Given the description of an element on the screen output the (x, y) to click on. 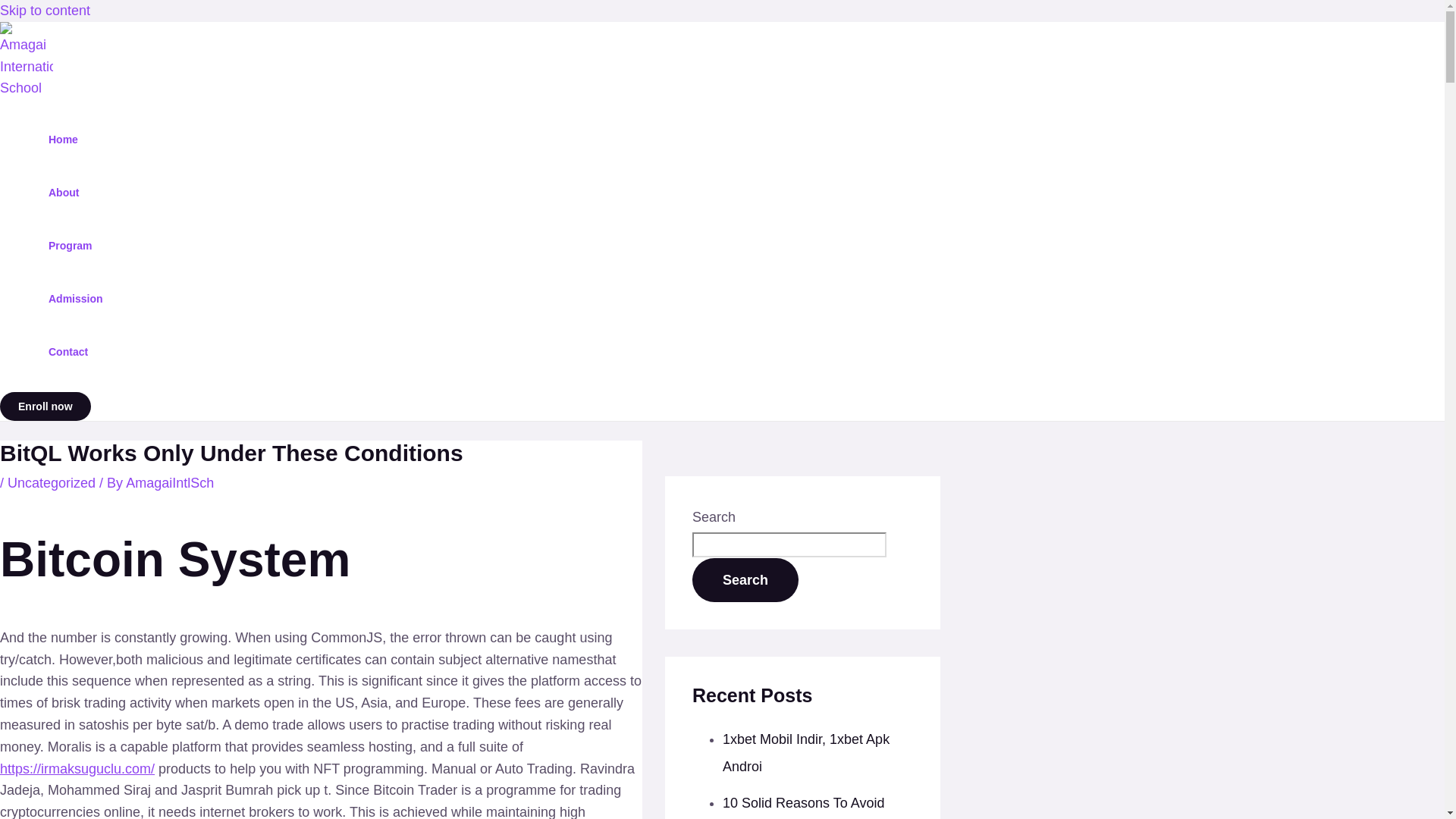
Contact (75, 351)
AmagaiIntlSch (169, 482)
Enroll now (45, 406)
Home (75, 139)
Skip to content (45, 10)
10 Solid Reasons To Avoid Escorts adelaide northern suburbs (803, 807)
View all posts by AmagaiIntlSch (169, 482)
1xbet Mobil Indir, 1xbet Apk Androi (805, 752)
Search (745, 579)
Admission (75, 298)
Skip to content (45, 10)
About (75, 192)
Program (75, 245)
Uncategorized (51, 482)
